Given the description of an element on the screen output the (x, y) to click on. 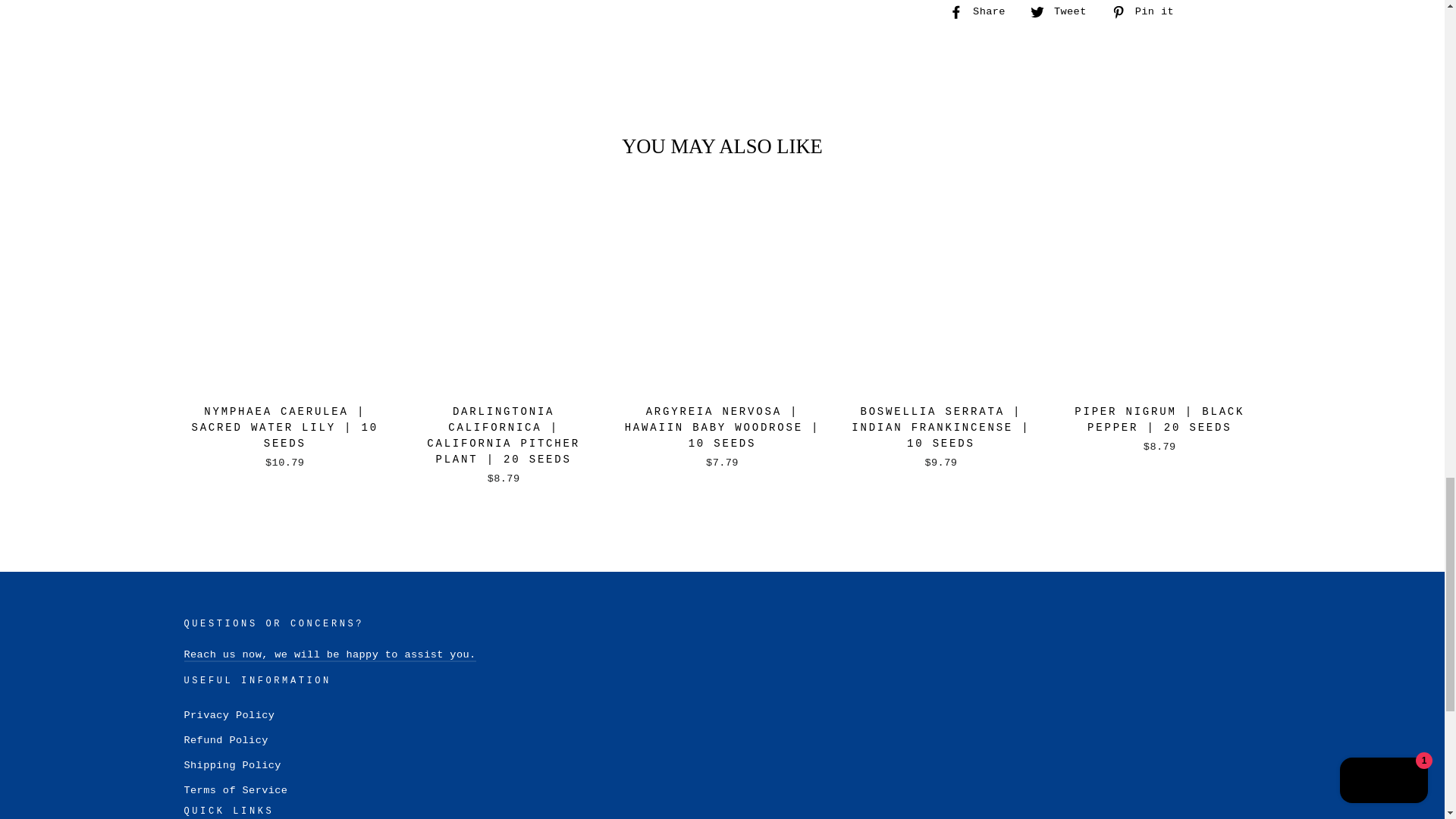
Tweet on Twitter (1063, 13)
Contact Us (329, 655)
Share on Facebook (982, 13)
Pin on Pinterest (1148, 13)
